Given the description of an element on the screen output the (x, y) to click on. 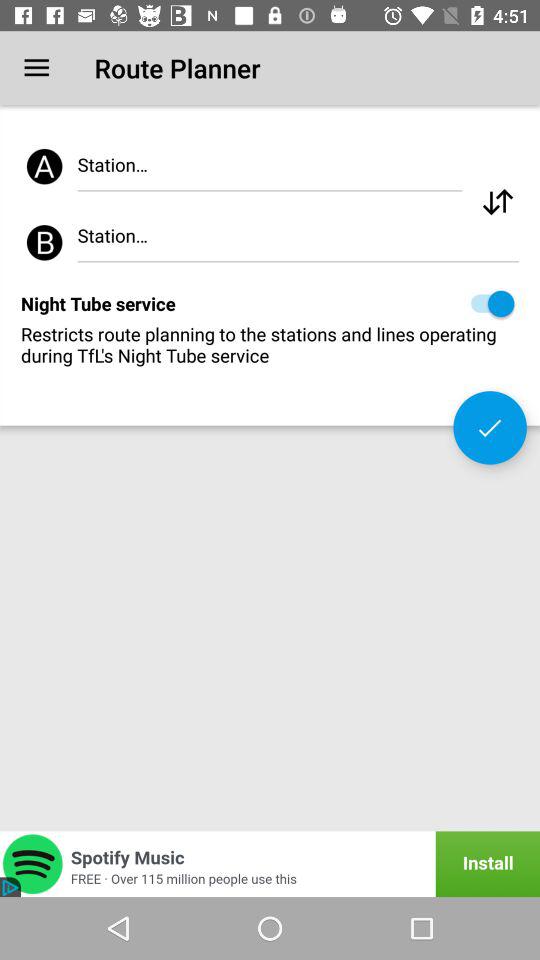
click install spotify (270, 864)
